Given the description of an element on the screen output the (x, y) to click on. 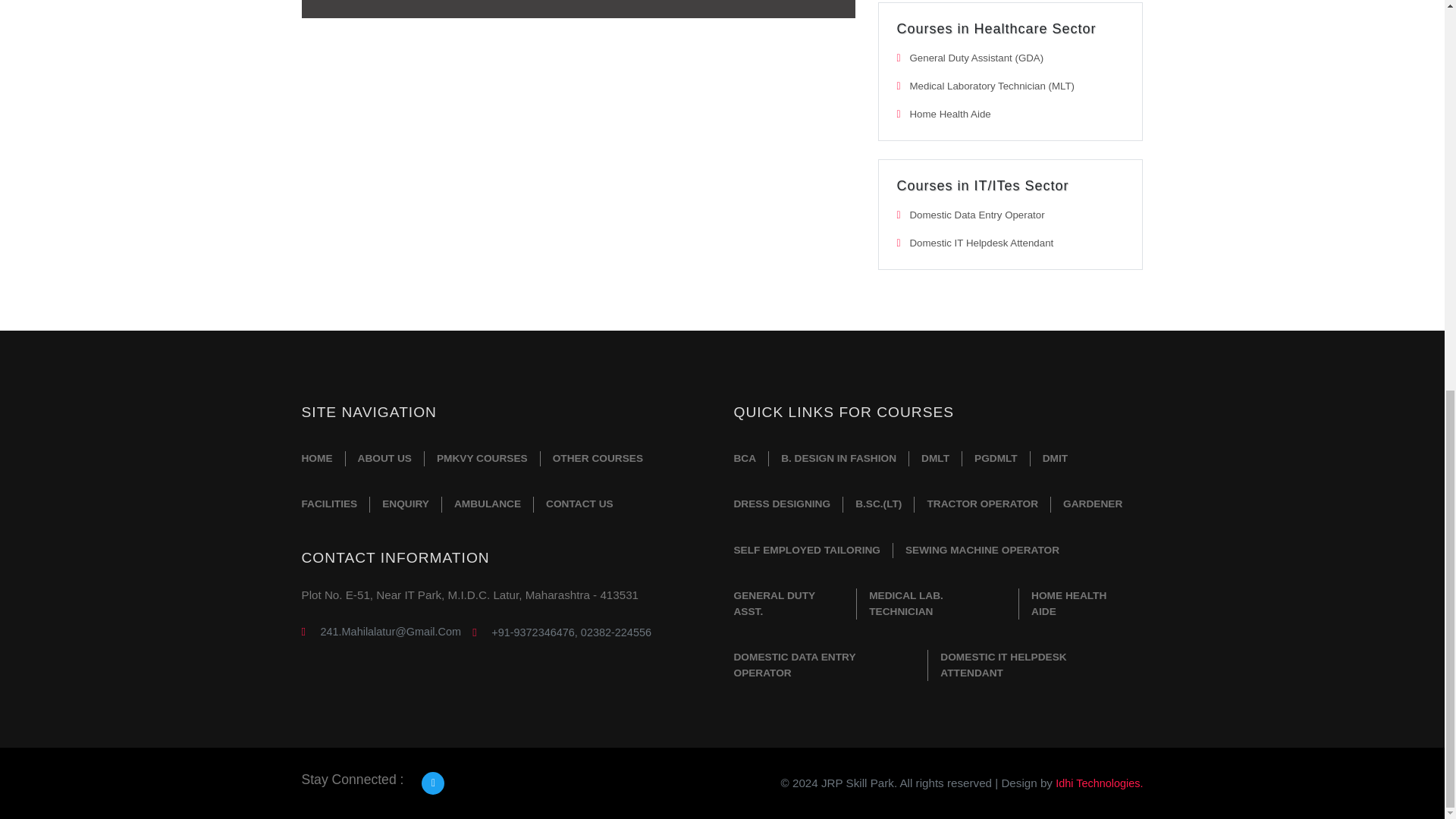
DMIT (1055, 458)
HOME (323, 458)
ENQUIRY (405, 504)
AMBULANCE (487, 504)
Domestic IT Helpdesk Attendant (982, 242)
PMKVY COURSES (482, 458)
Domestic Data Entry Operator (977, 214)
ABOUT US (384, 458)
B. DESIGN IN FASHION (838, 458)
Home Health Aide (950, 113)
CONTACT US (580, 504)
DMLT (934, 458)
FACILITIES (335, 504)
PGDMLT (995, 458)
BCA (750, 458)
